Given the description of an element on the screen output the (x, y) to click on. 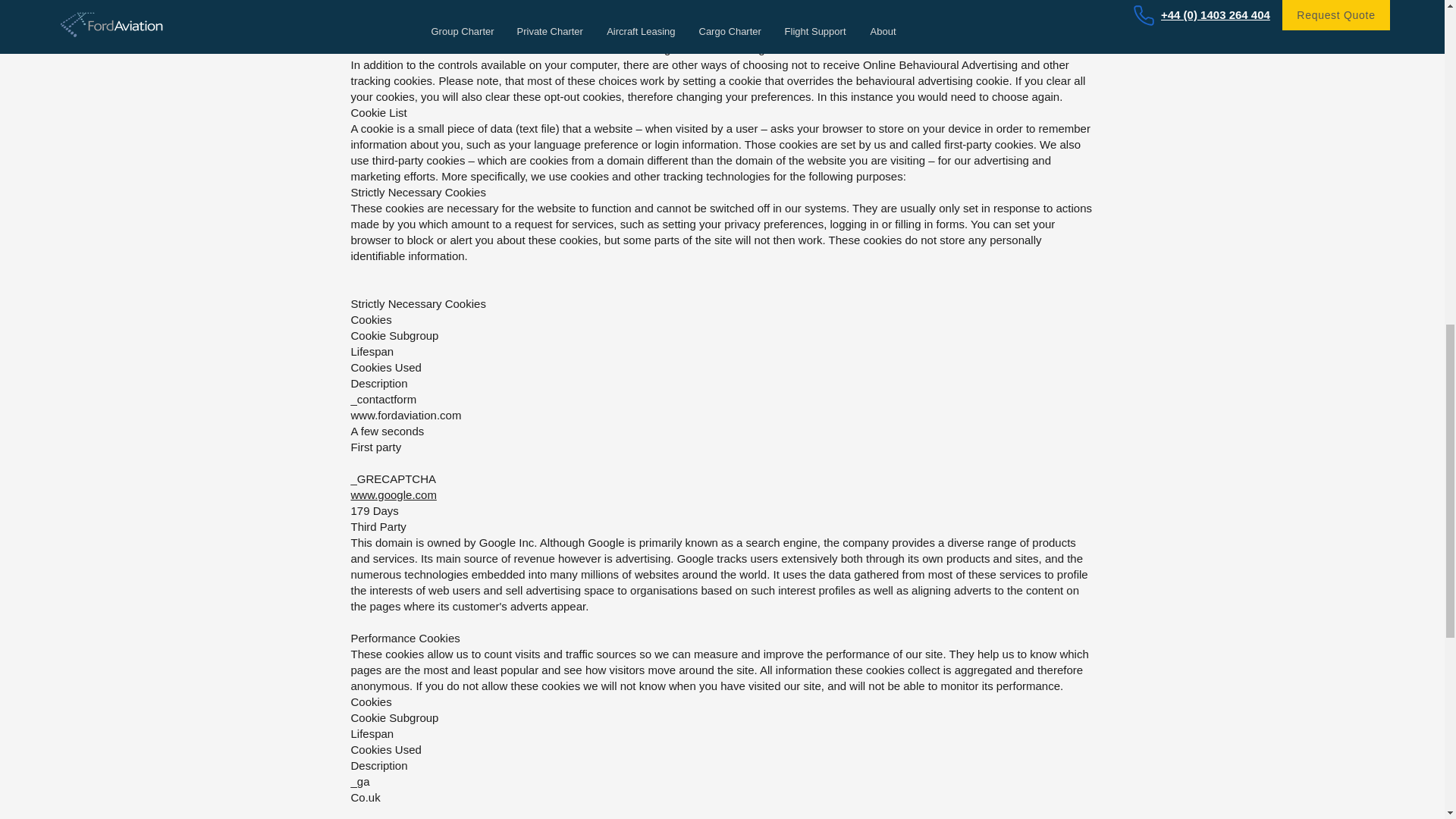
www.google.com (392, 494)
www.fordaviation.com (405, 414)
